Given the description of an element on the screen output the (x, y) to click on. 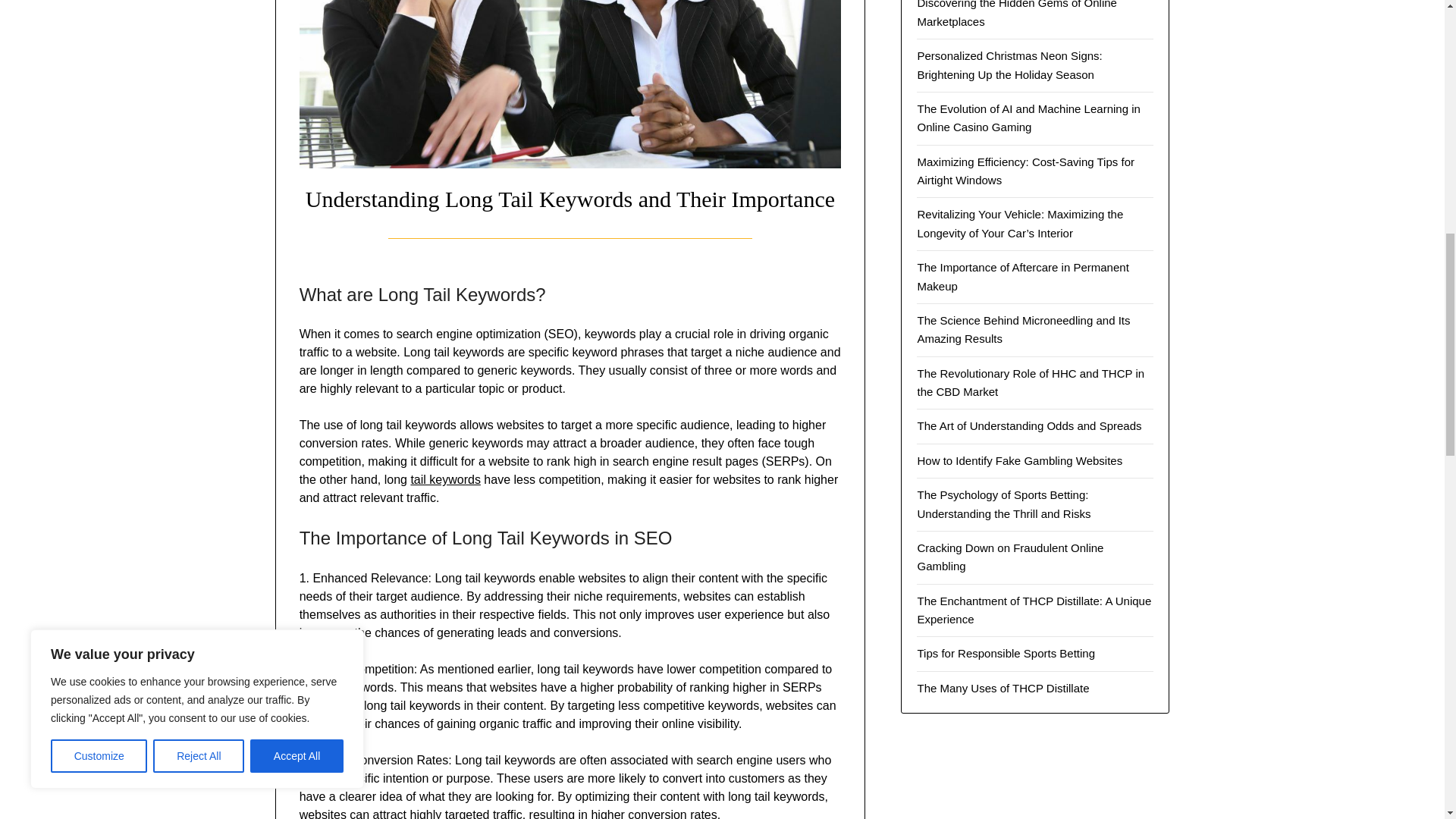
Discovering the Hidden Gems of Online Marketplaces (1016, 13)
Maximizing Efficiency: Cost-Saving Tips for Airtight Windows (1025, 170)
The Art of Understanding Odds and Spreads (1029, 425)
The Revolutionary Role of HHC and THCP in the CBD Market (1030, 382)
The Science Behind Microneedling and Its Amazing Results (1023, 328)
The Importance of Aftercare in Permanent Makeup (1022, 276)
tail keywords (445, 479)
